Given the description of an element on the screen output the (x, y) to click on. 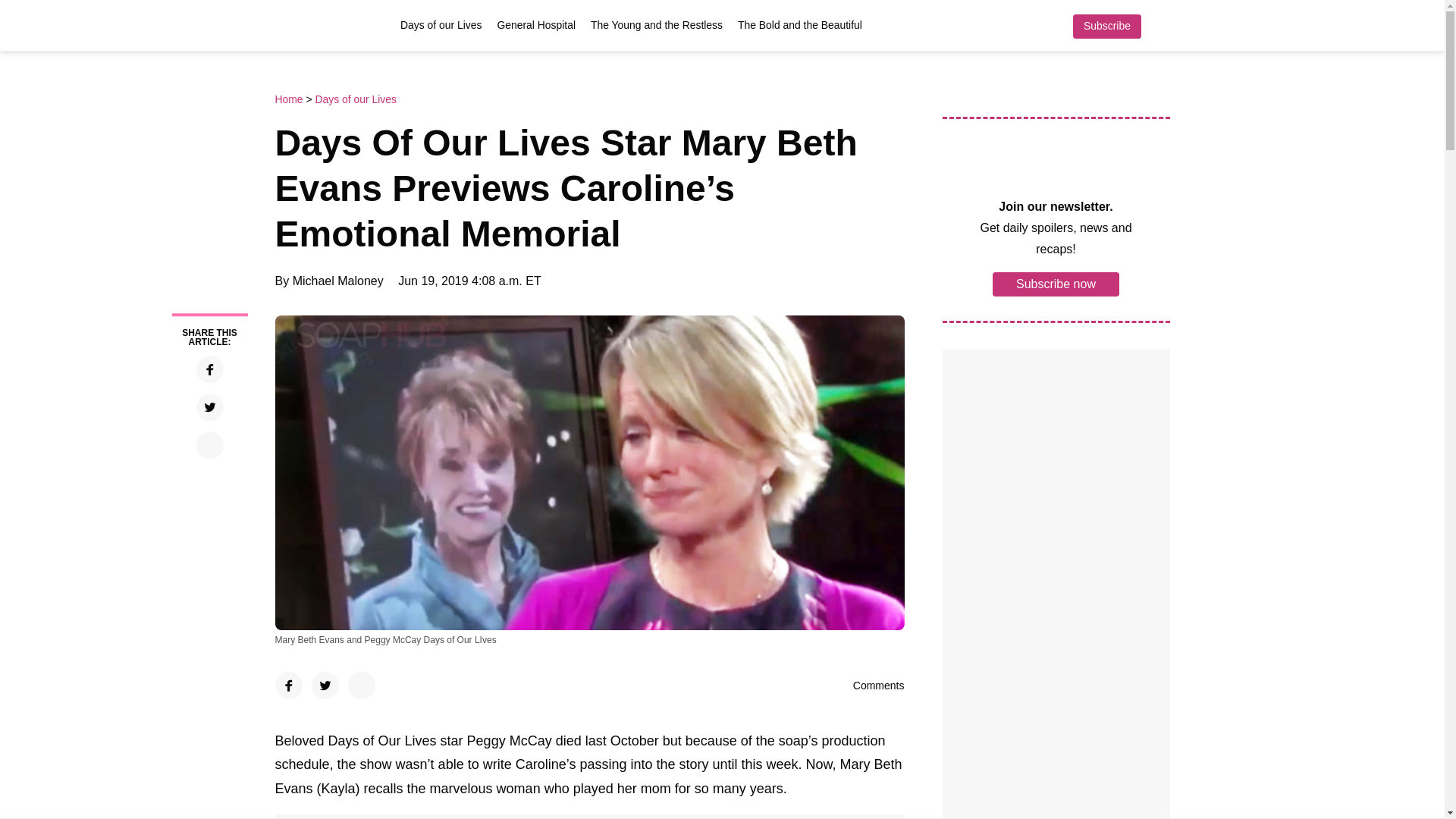
Days of our Lives (441, 24)
The Young and the Restless (656, 24)
Days of our Lives (355, 99)
Click to email a link to a friend (208, 444)
Michael Maloney (338, 280)
Click to share on Twitter (208, 406)
General Hospital (536, 24)
Home (290, 99)
Subscribe now (1055, 283)
Click to share on Facebook (208, 369)
